Given the description of an element on the screen output the (x, y) to click on. 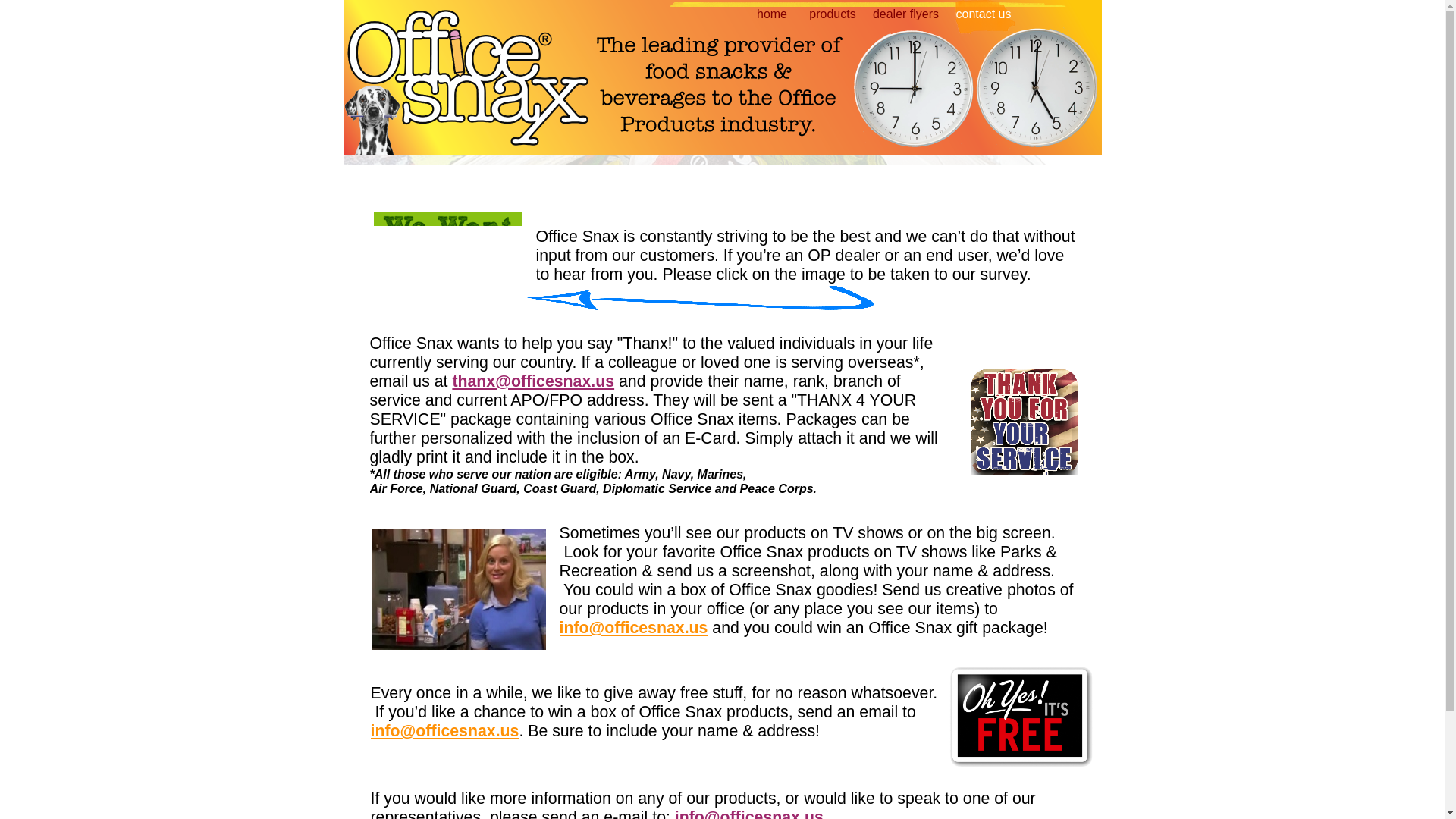
home (770, 18)
products (832, 18)
dealer flyers (905, 18)
contact us (982, 18)
